Given the description of an element on the screen output the (x, y) to click on. 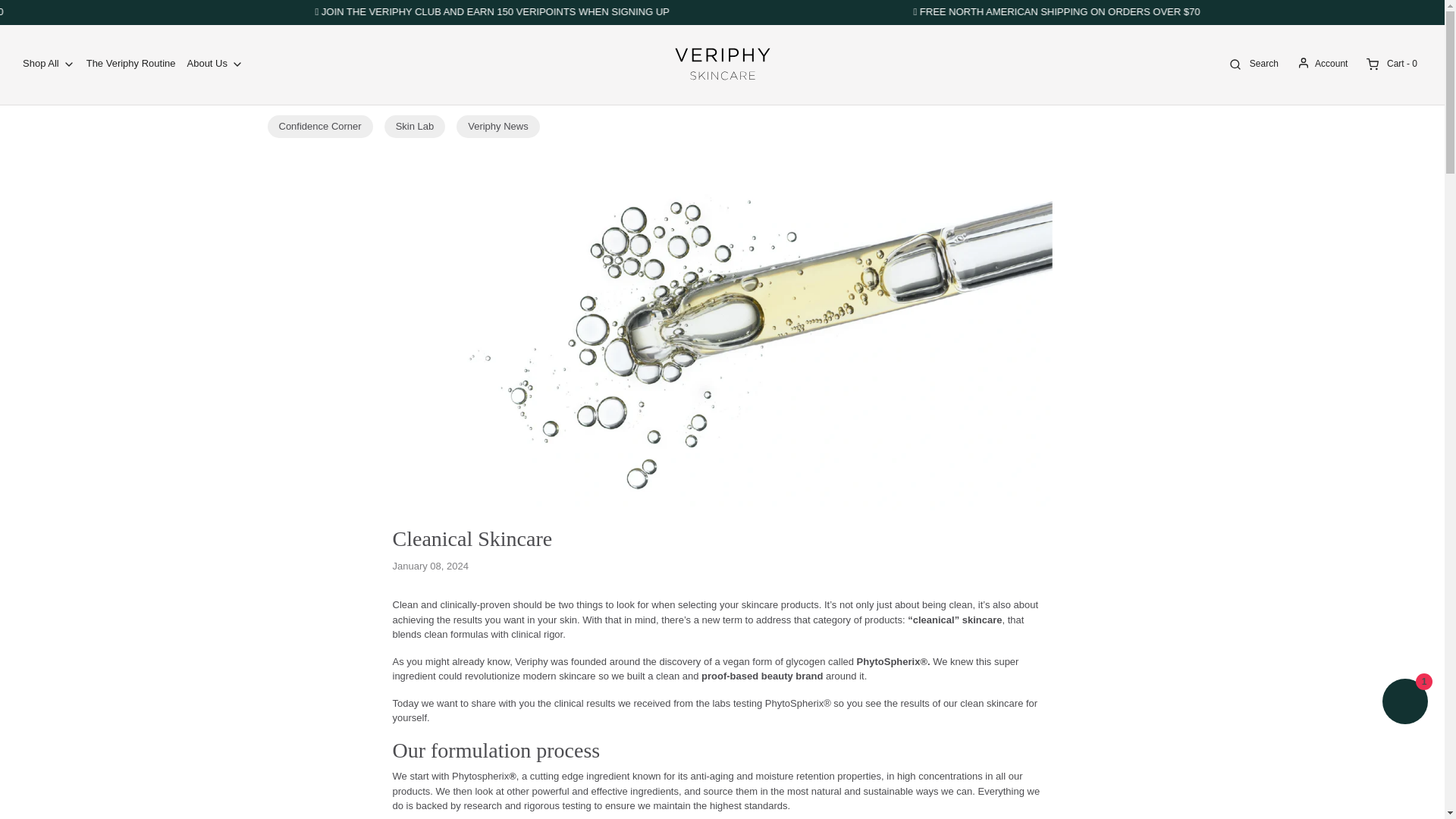
Cart (1390, 64)
BESTSELLERS (93, 11)
Search (1251, 64)
Log in (1321, 63)
Shopify online store chat (1404, 703)
BESTSELLERS (1240, 11)
